Given the description of an element on the screen output the (x, y) to click on. 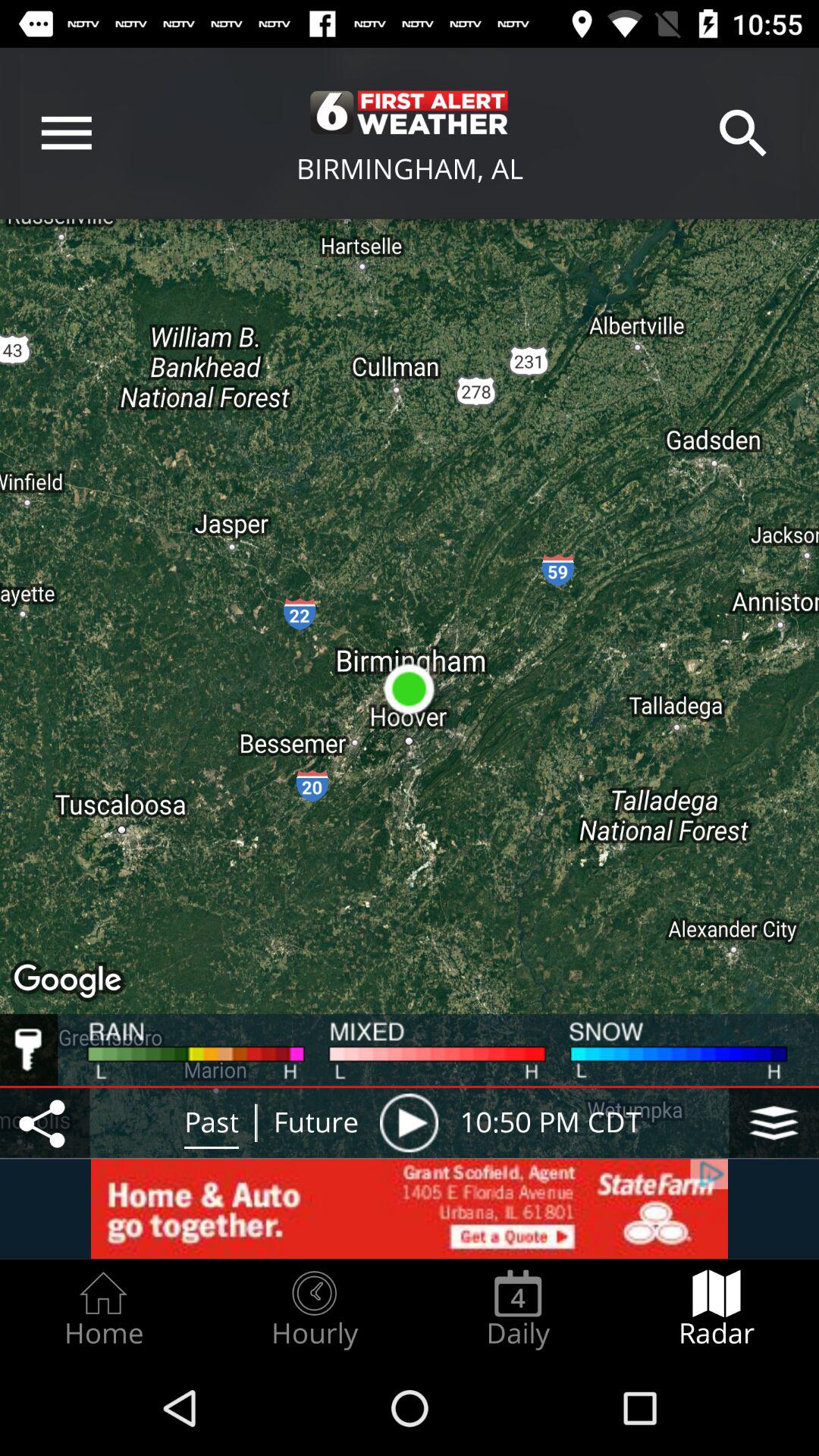
swipe to the radar radio button (716, 1309)
